Given the description of an element on the screen output the (x, y) to click on. 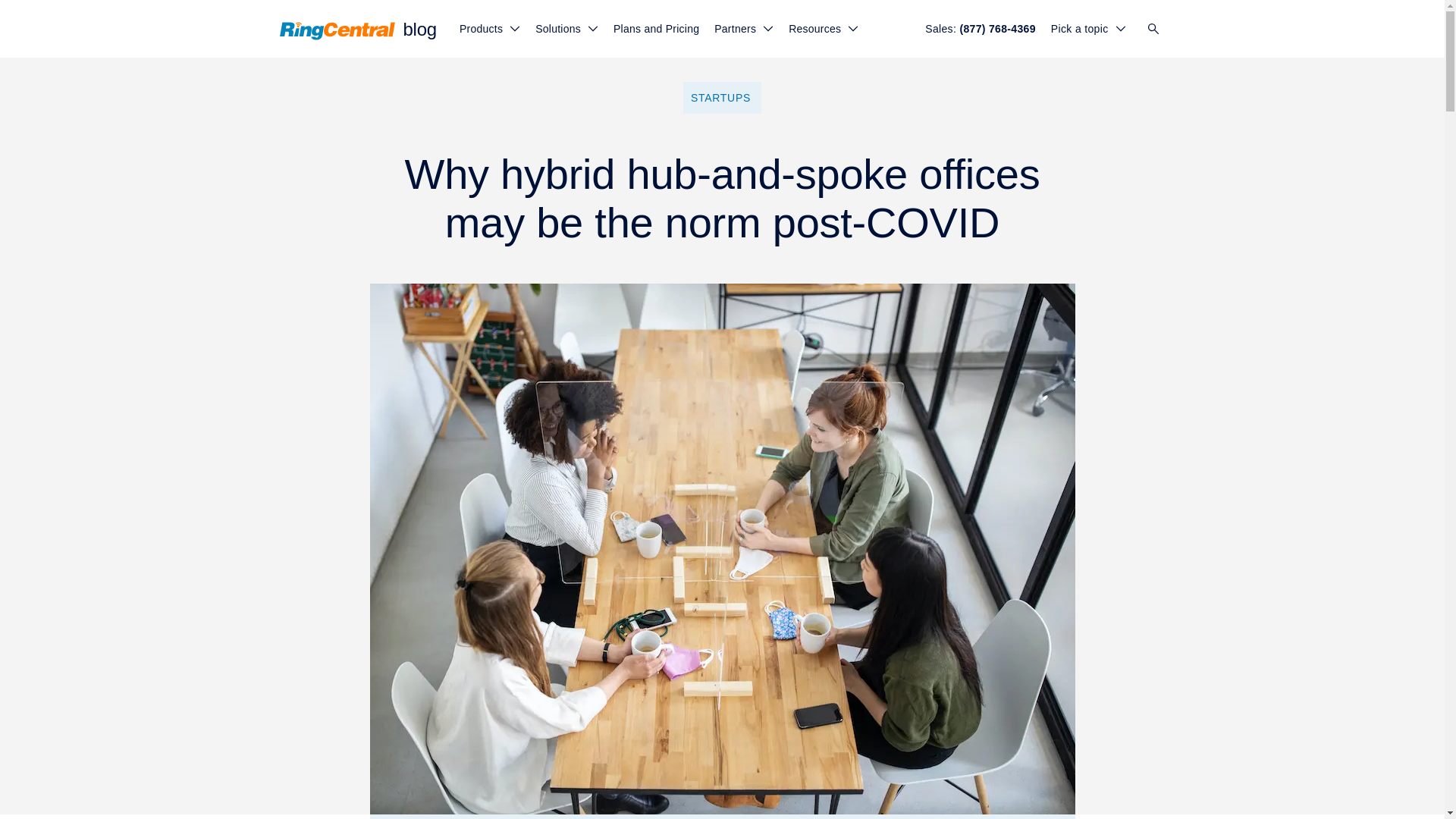
RingCentral Logo (336, 29)
